Given the description of an element on the screen output the (x, y) to click on. 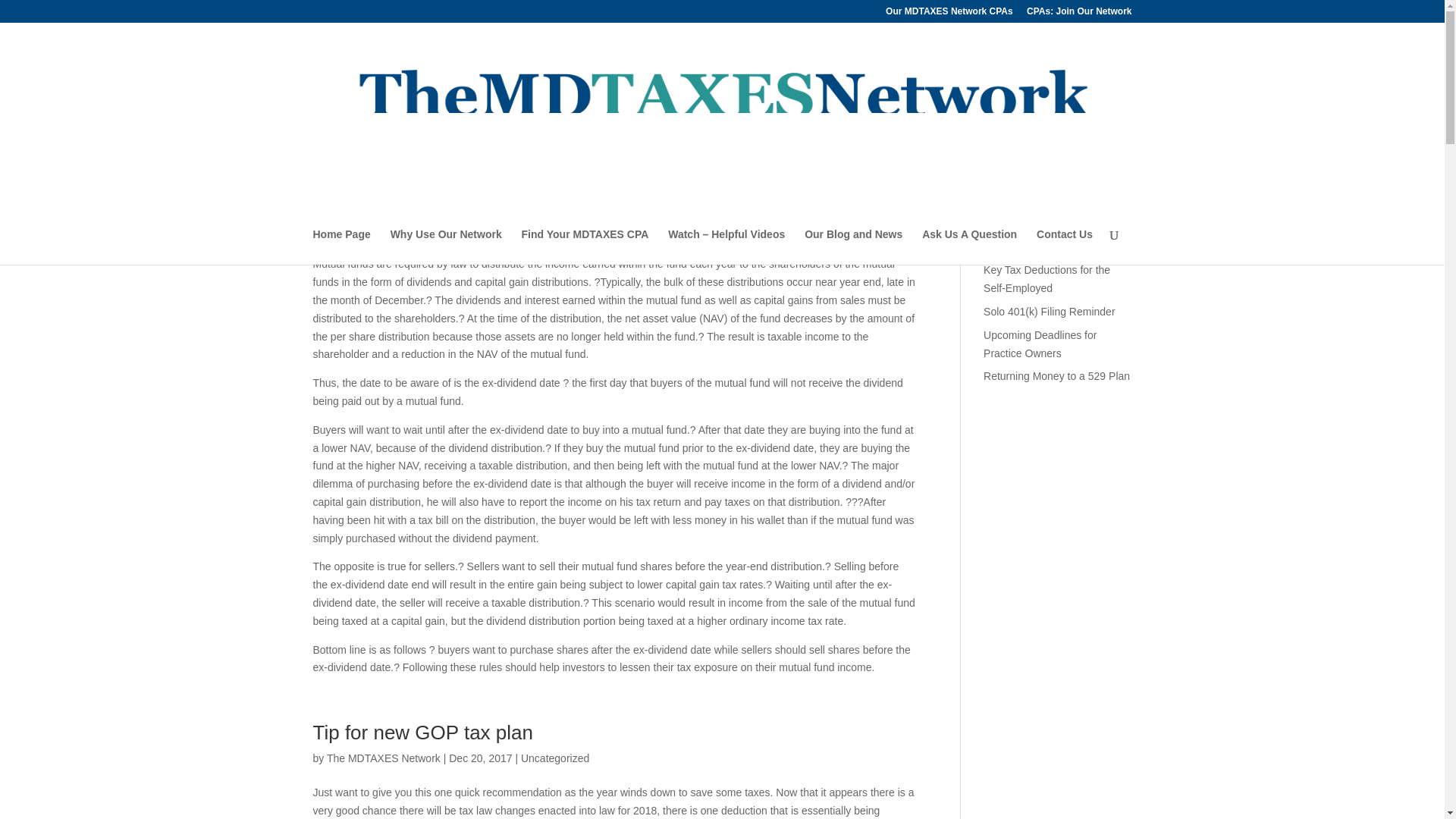
Our Blog and News (853, 246)
Find Your MDTAXES CPA (585, 246)
Tip for new GOP tax plan (422, 732)
The MDTAXES Network (383, 758)
Why Use Our Network (446, 246)
Uncategorized (555, 183)
Contact Us (1064, 246)
Posts by The MDTAXES Network (383, 758)
The MDTAXES Network (383, 183)
Posts by The MDTAXES Network (383, 183)
Uncategorized (555, 758)
Home Page (341, 246)
Ask Us A Question (968, 246)
Search (1106, 142)
